Given the description of an element on the screen output the (x, y) to click on. 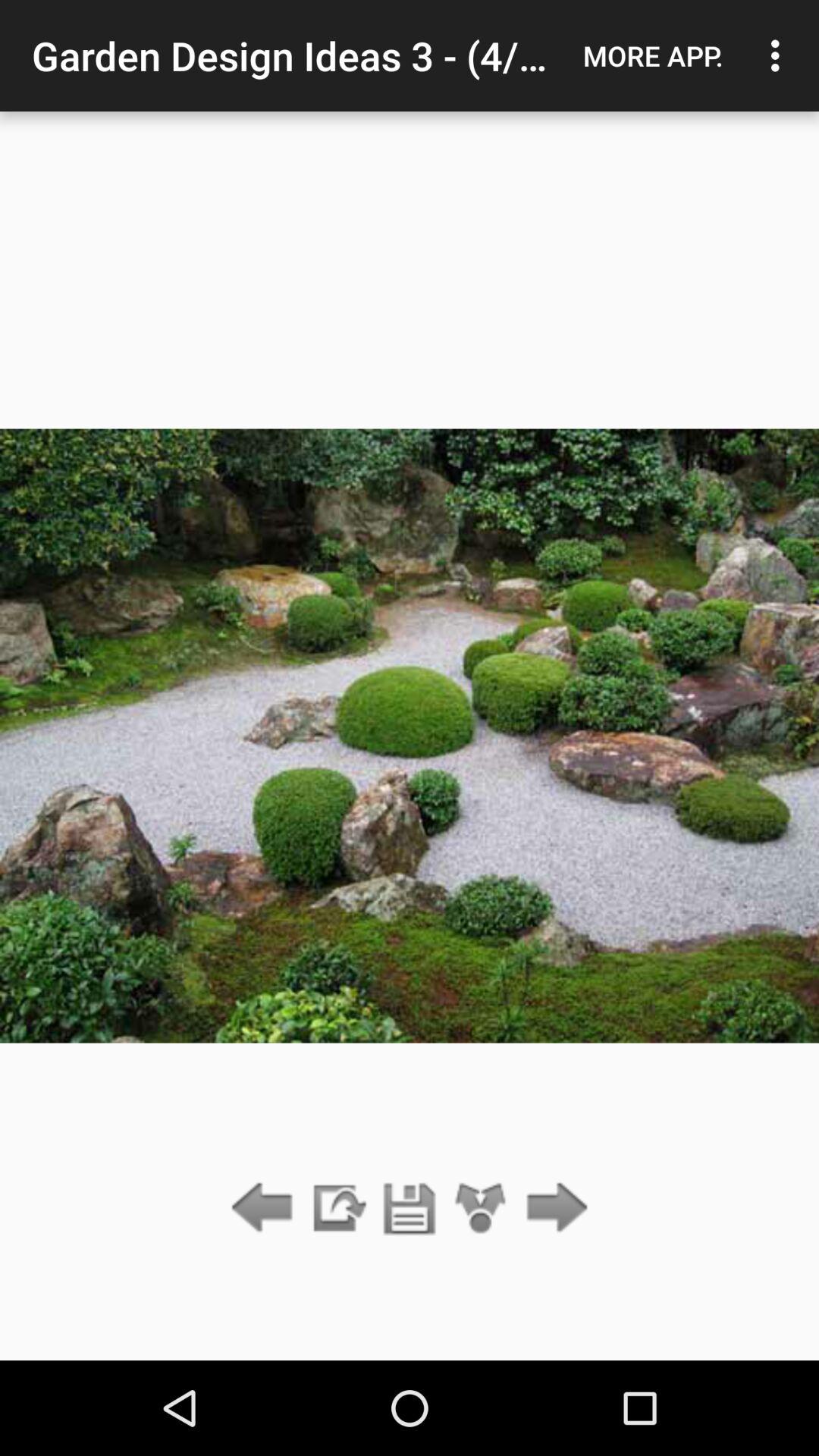
go reverse option (266, 1209)
